Given the description of an element on the screen output the (x, y) to click on. 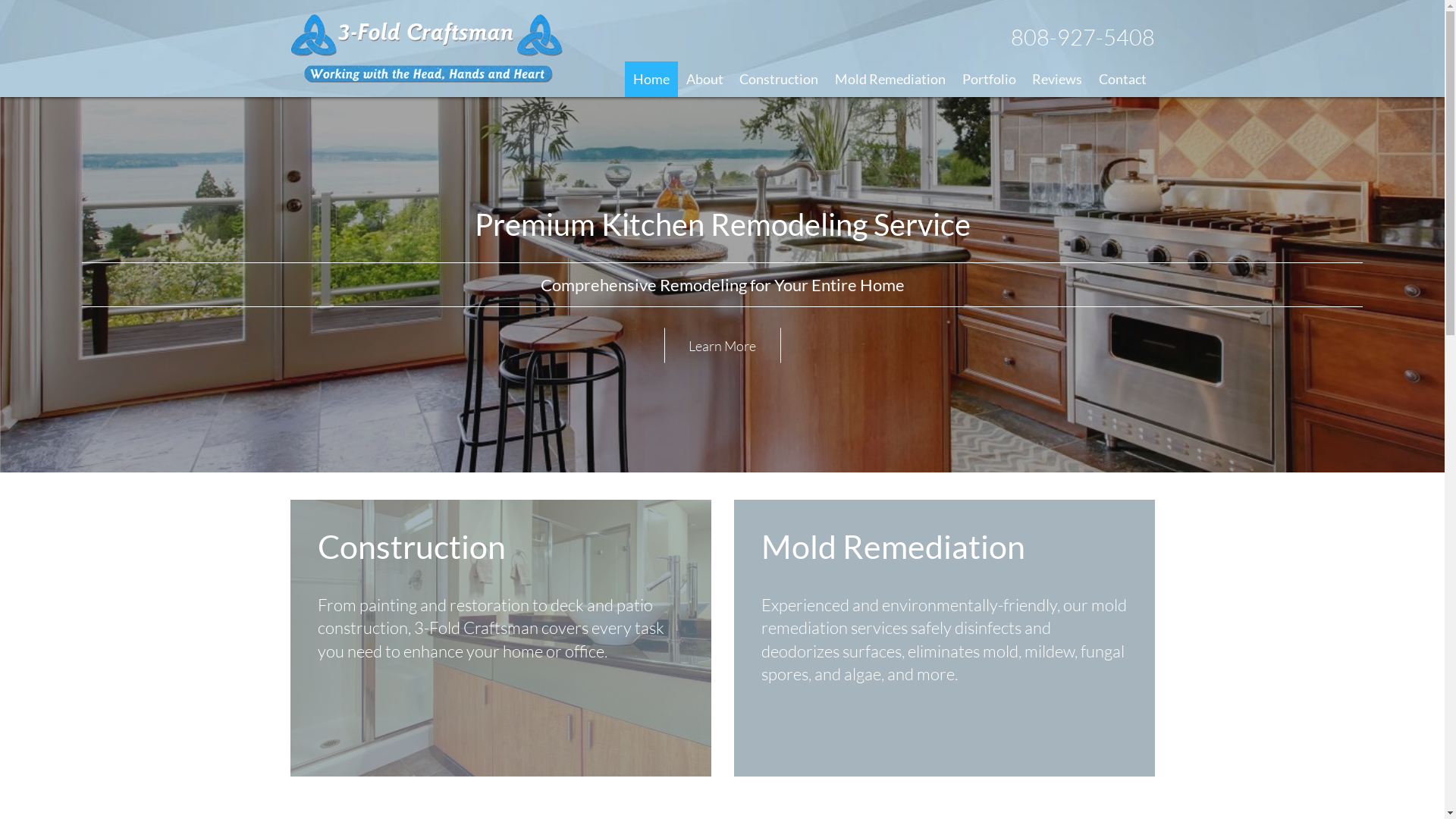
Construction Element type: text (779, 79)
Reviews Element type: text (1056, 79)
808-927-5408 Element type: text (1082, 36)
About Element type: text (704, 79)
Home Element type: text (650, 79)
Learn More Element type: text (722, 345)
Portfolio Element type: text (988, 79)
Contact Element type: text (1122, 79)
Mold Remediation Element type: text (889, 79)
